Given the description of an element on the screen output the (x, y) to click on. 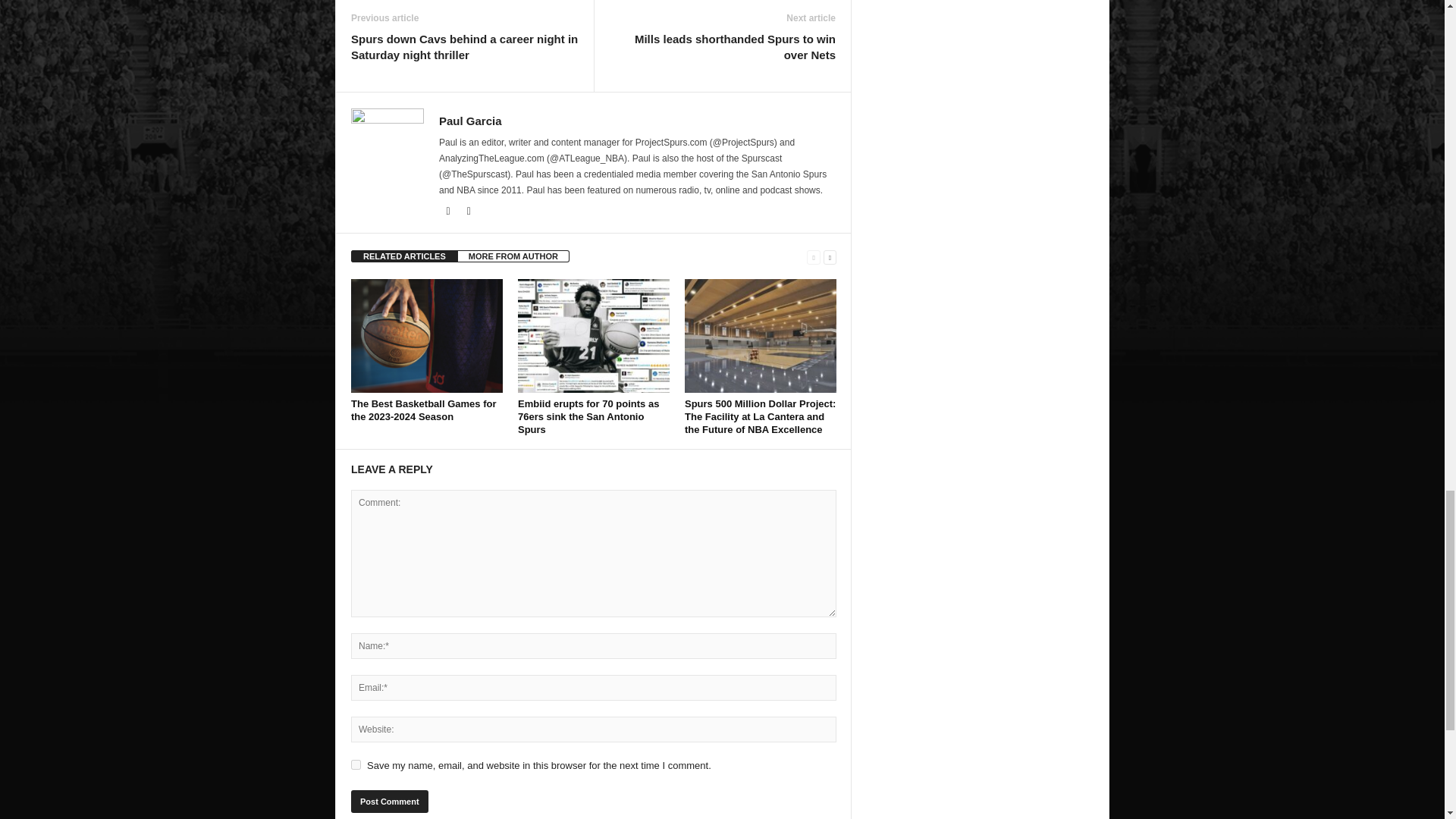
Post Comment (389, 801)
yes (355, 764)
Mail (449, 211)
